Given the description of an element on the screen output the (x, y) to click on. 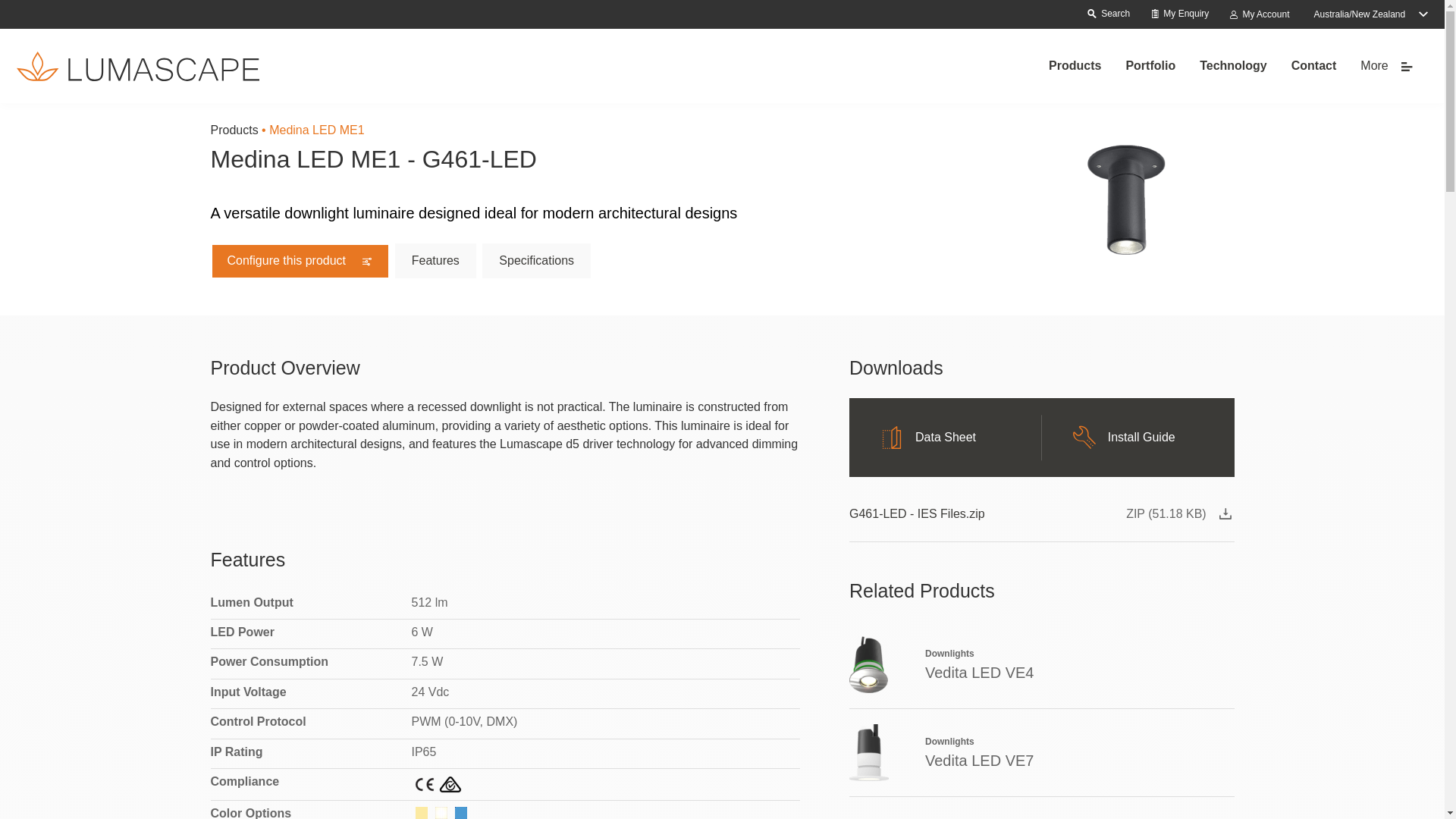
My Account Element type: text (1257, 14)
Specifications Element type: text (536, 260)
Configure this product Element type: text (300, 260)
Technology Element type: text (1233, 66)
G461-LED - IES Files.zip
ZIP (51.18 KB) Element type: text (1041, 516)
Data Sheet Element type: text (945, 437)
Contact Element type: text (1314, 66)
Features Element type: text (435, 260)
Search Element type: text (1107, 14)
Products Element type: text (1074, 66)
Install Guide Element type: text (1137, 437)
My Enquiry Element type: text (1178, 14)
Australia/New Zealand Element type: text (1371, 14)
Downlights
Vedita LED VE7 Element type: text (1041, 751)
Products Element type: text (234, 129)
Downlights
Vedita LED VE4 Element type: text (1041, 663)
Portfolio Element type: text (1150, 66)
More Element type: text (1386, 65)
